Given the description of an element on the screen output the (x, y) to click on. 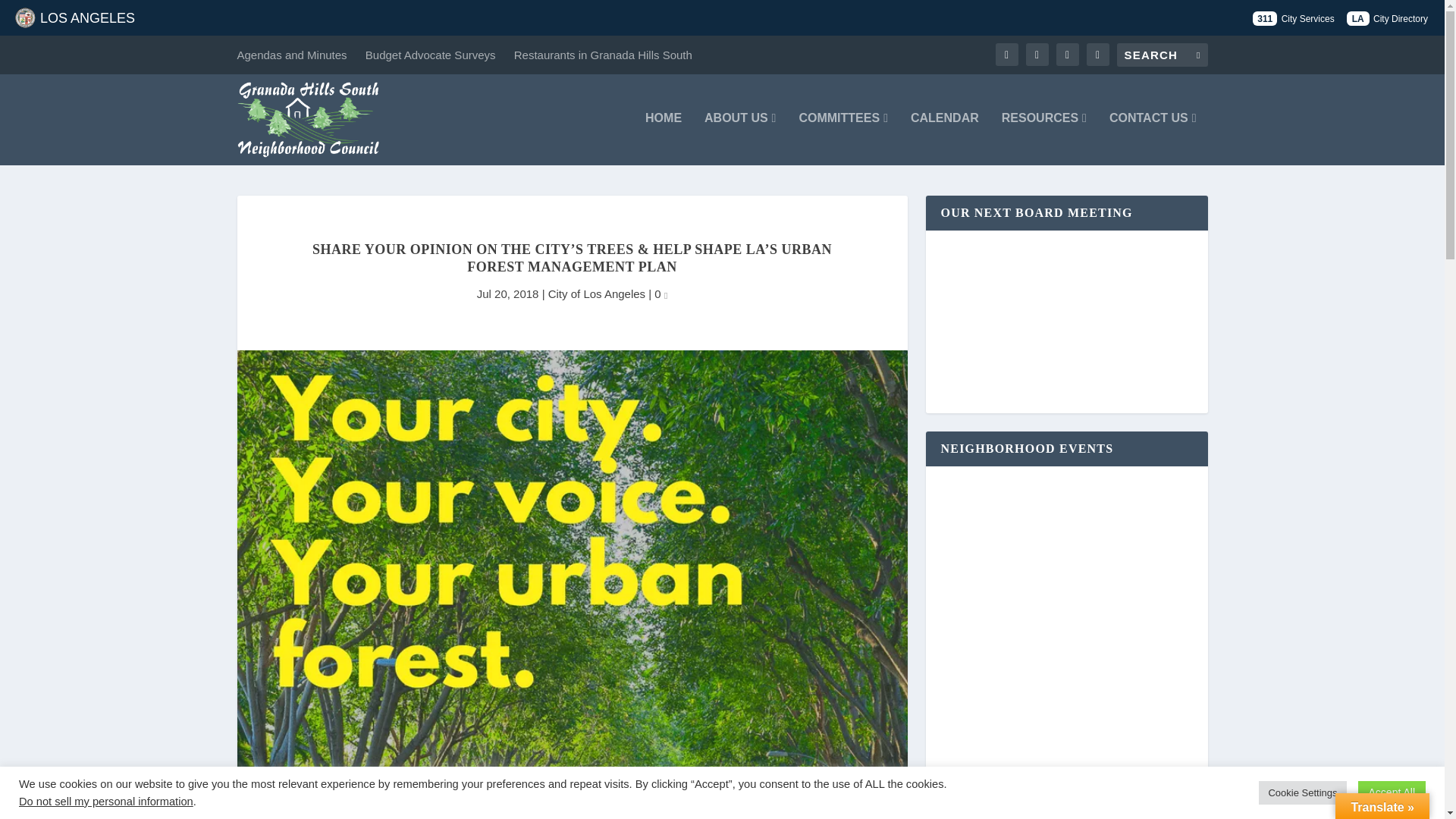
RESOURCES (1043, 138)
Search for: (1161, 54)
COMMITTEES (842, 138)
Agendas and Minutes (290, 55)
LA City Directory (1387, 18)
Restaurants in Granada Hills South (603, 55)
Budget Advocate Surveys (430, 55)
ABOUT US (740, 138)
311 City Services (1292, 18)
CALENDAR (944, 138)
